Given the description of an element on the screen output the (x, y) to click on. 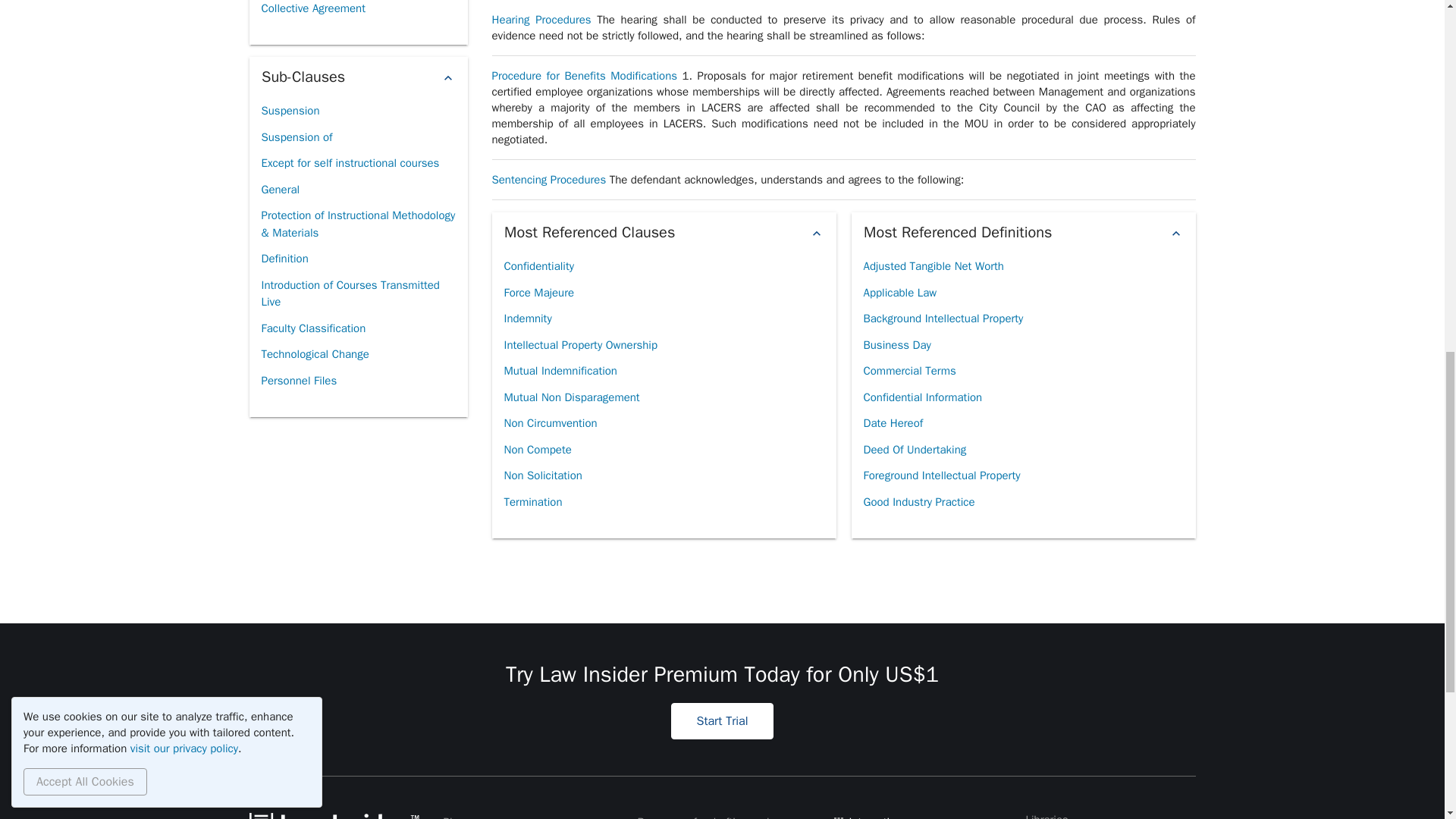
General (279, 189)
Introduction of Courses Transmitted Live (357, 293)
Suspension (289, 110)
Faculty Classification (312, 328)
Except for self instructional courses (349, 162)
Definition (283, 258)
Technological Change (314, 354)
Personnel Files (298, 380)
Suspension of (295, 137)
Collective Agreement (312, 11)
